Given the description of an element on the screen output the (x, y) to click on. 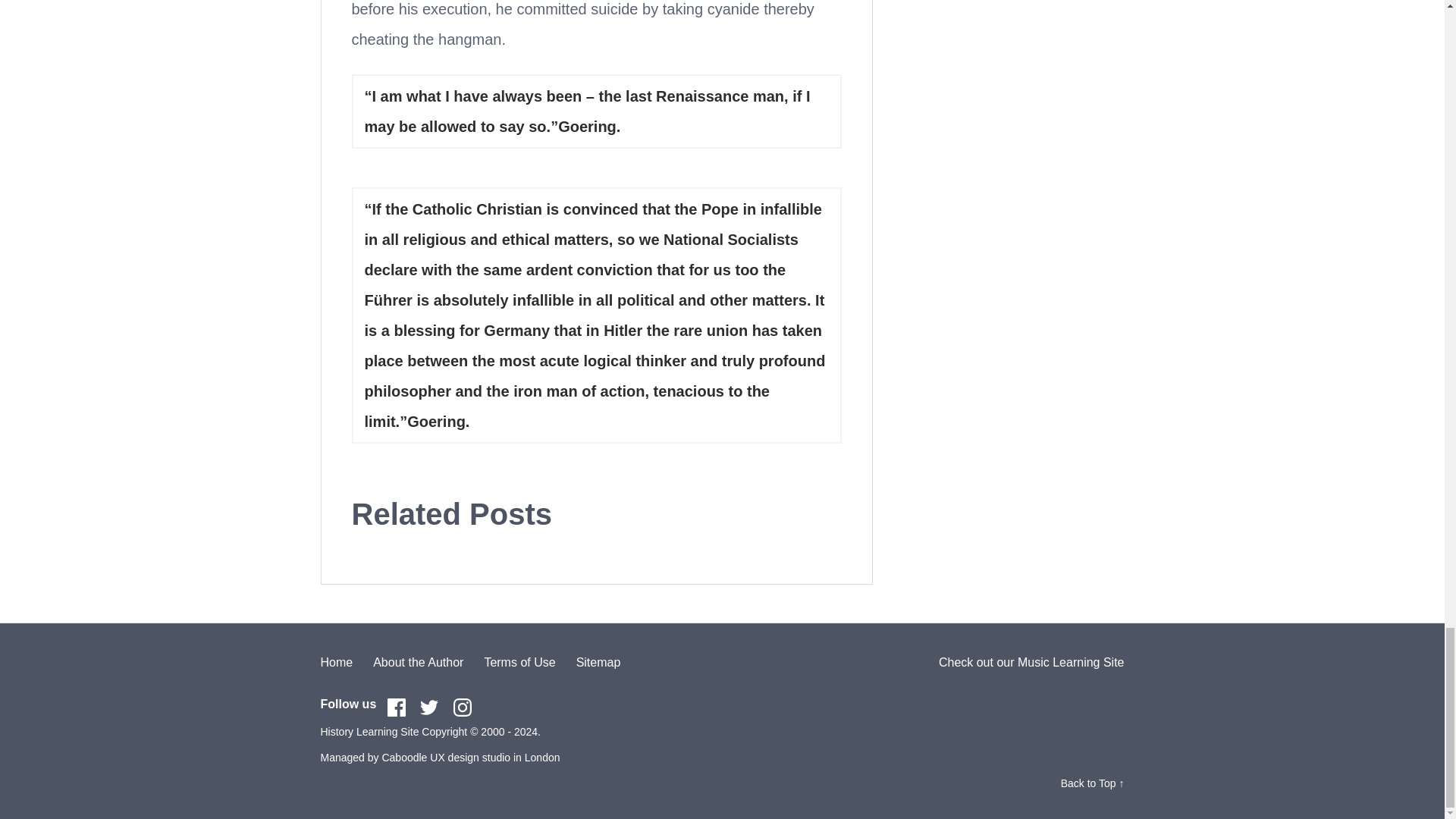
Follow us on Instagram (461, 708)
History Learning Site (369, 731)
Home (336, 662)
Like us on Facebook (396, 708)
